Given the description of an element on the screen output the (x, y) to click on. 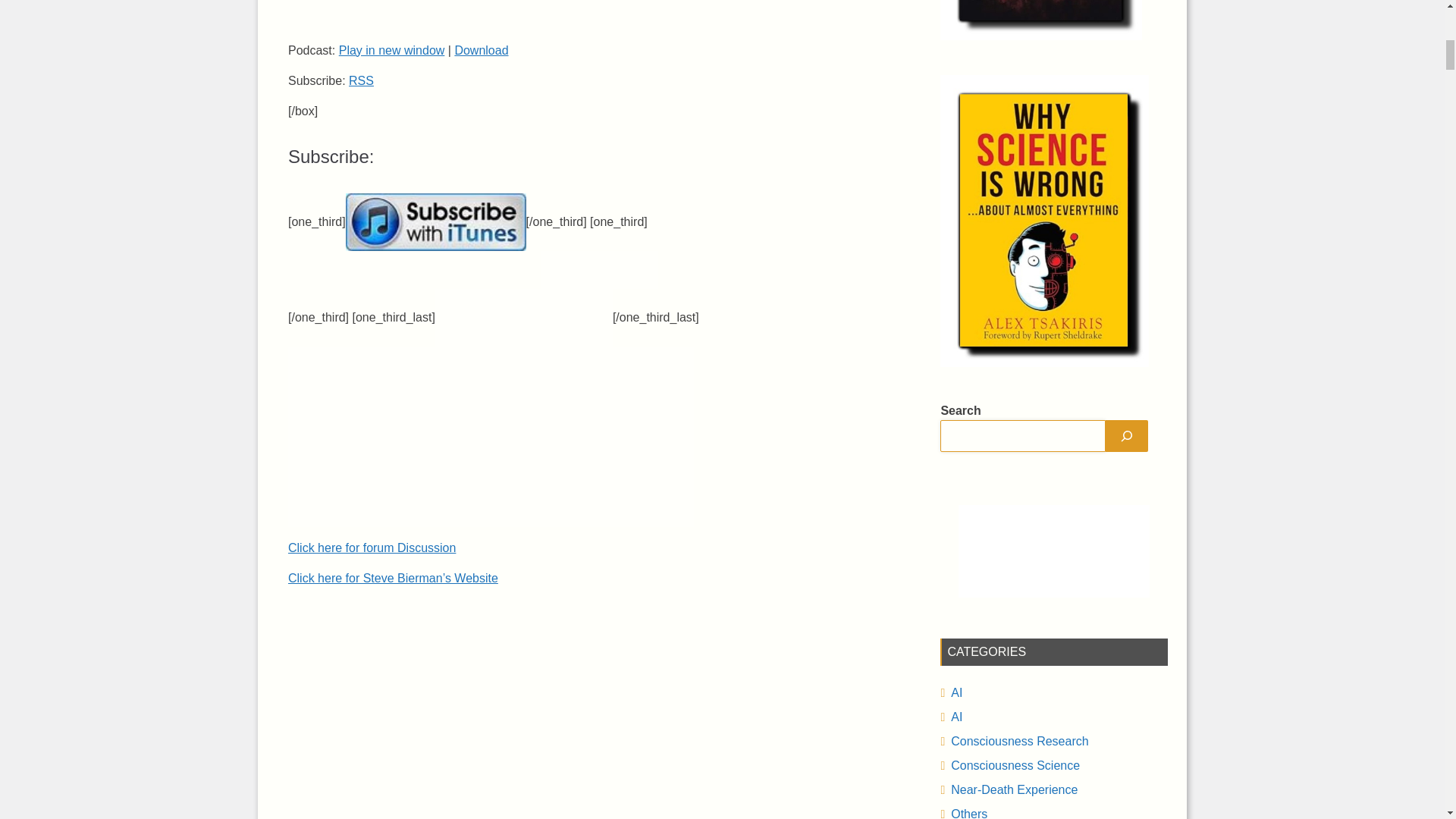
Blubrry Podcast Player (599, 12)
Download (481, 50)
Download (481, 50)
Play in new window (392, 50)
Click here for forum Discussion (371, 547)
Subscribe via RSS (361, 80)
Play in new window (392, 50)
RSS (361, 80)
